Given the description of an element on the screen output the (x, y) to click on. 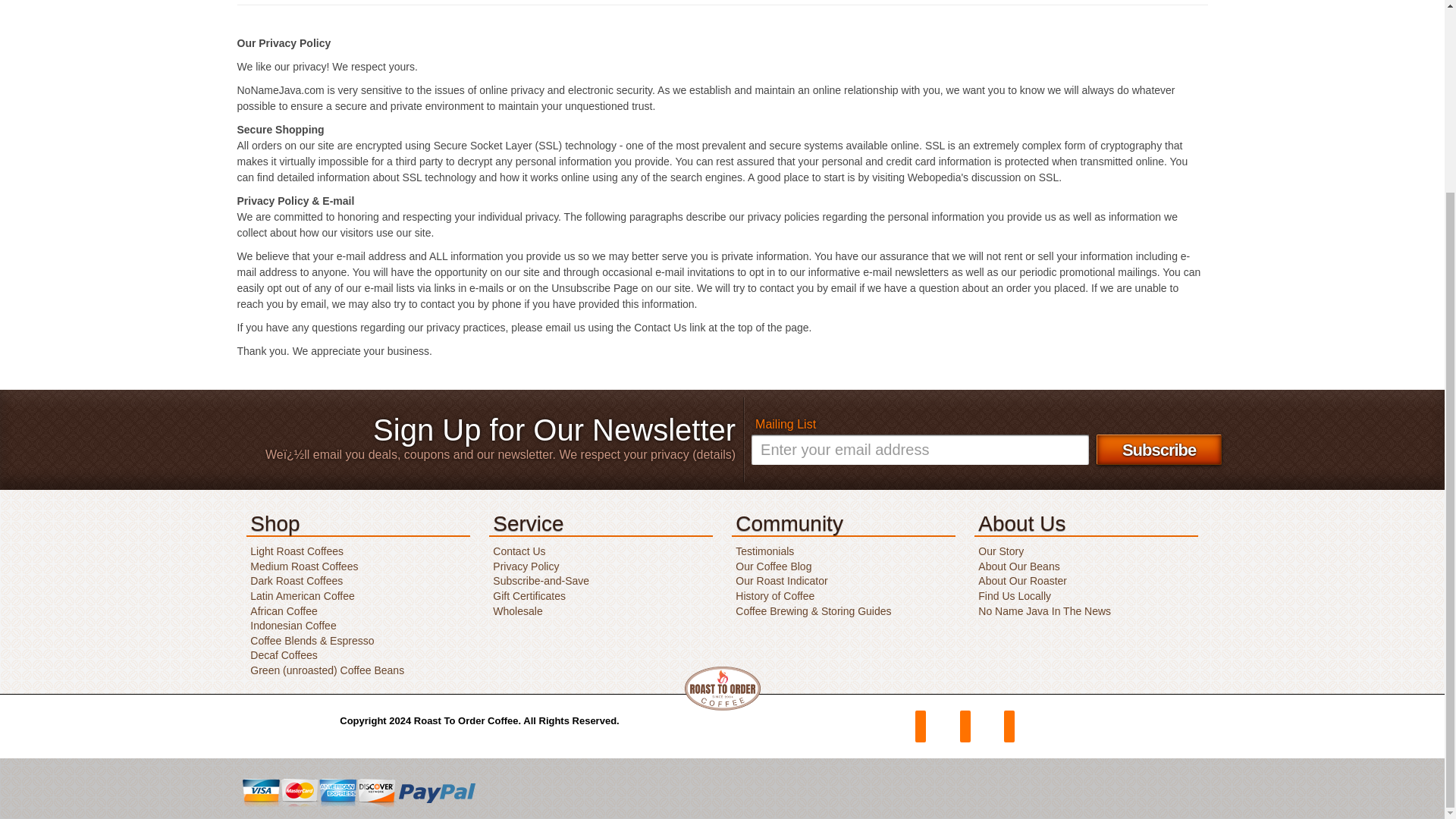
No Name Java In The News (1042, 611)
Wholesale (515, 611)
Latin American Coffee (300, 595)
Decaf Coffees (281, 654)
Our Roast Indicator (779, 580)
Gift Certificates (527, 595)
Dark Roast Coffees (294, 580)
Our Story (998, 551)
Light Roast Coffees (294, 551)
Privacy Policy (524, 566)
